Given the description of an element on the screen output the (x, y) to click on. 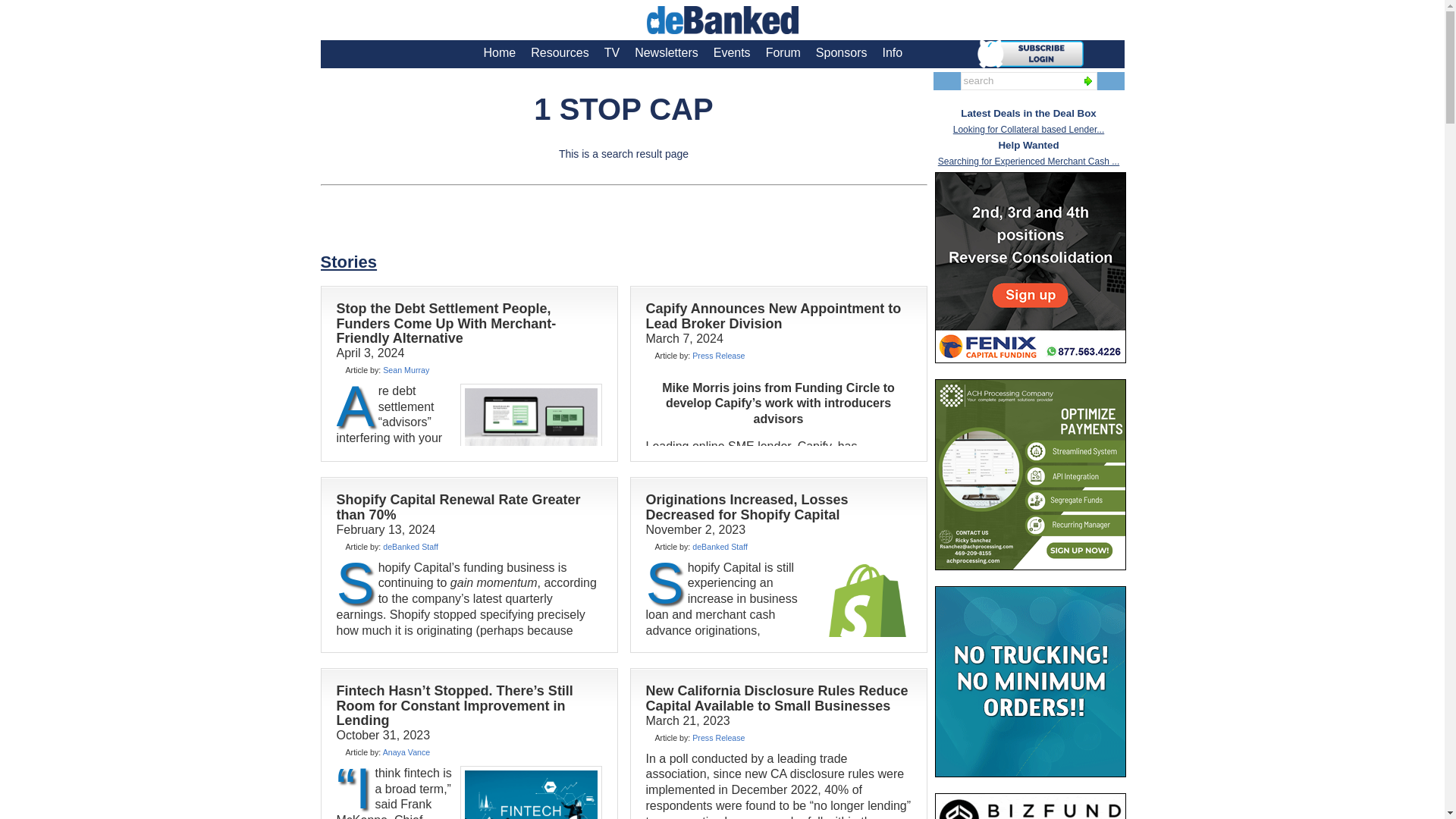
Fenix Capital Funding (1029, 267)
Home (500, 52)
TV (611, 52)
Capify Announces New Appointment to Lead Broker Division (773, 315)
Posts by Sean Murray (405, 369)
Posts by deBanked Staff (720, 546)
Resources (558, 52)
Info (892, 52)
Newsletters (666, 52)
Posts by Press Release (718, 355)
Press Release (718, 355)
Forum (783, 52)
